Given the description of an element on the screen output the (x, y) to click on. 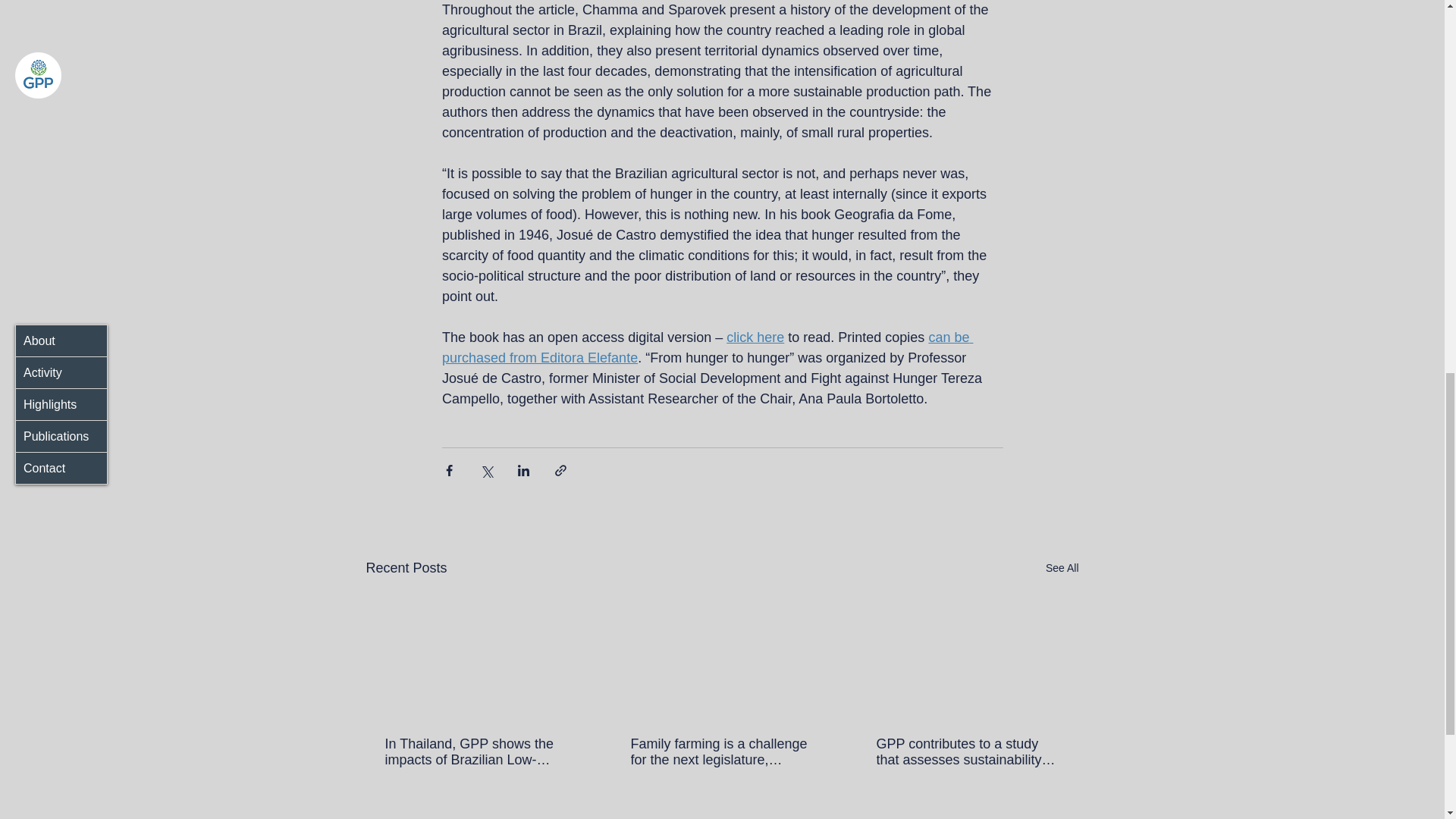
See All (1061, 568)
can be purchased from Editora Elefante (706, 347)
click here (755, 337)
